Given the description of an element on the screen output the (x, y) to click on. 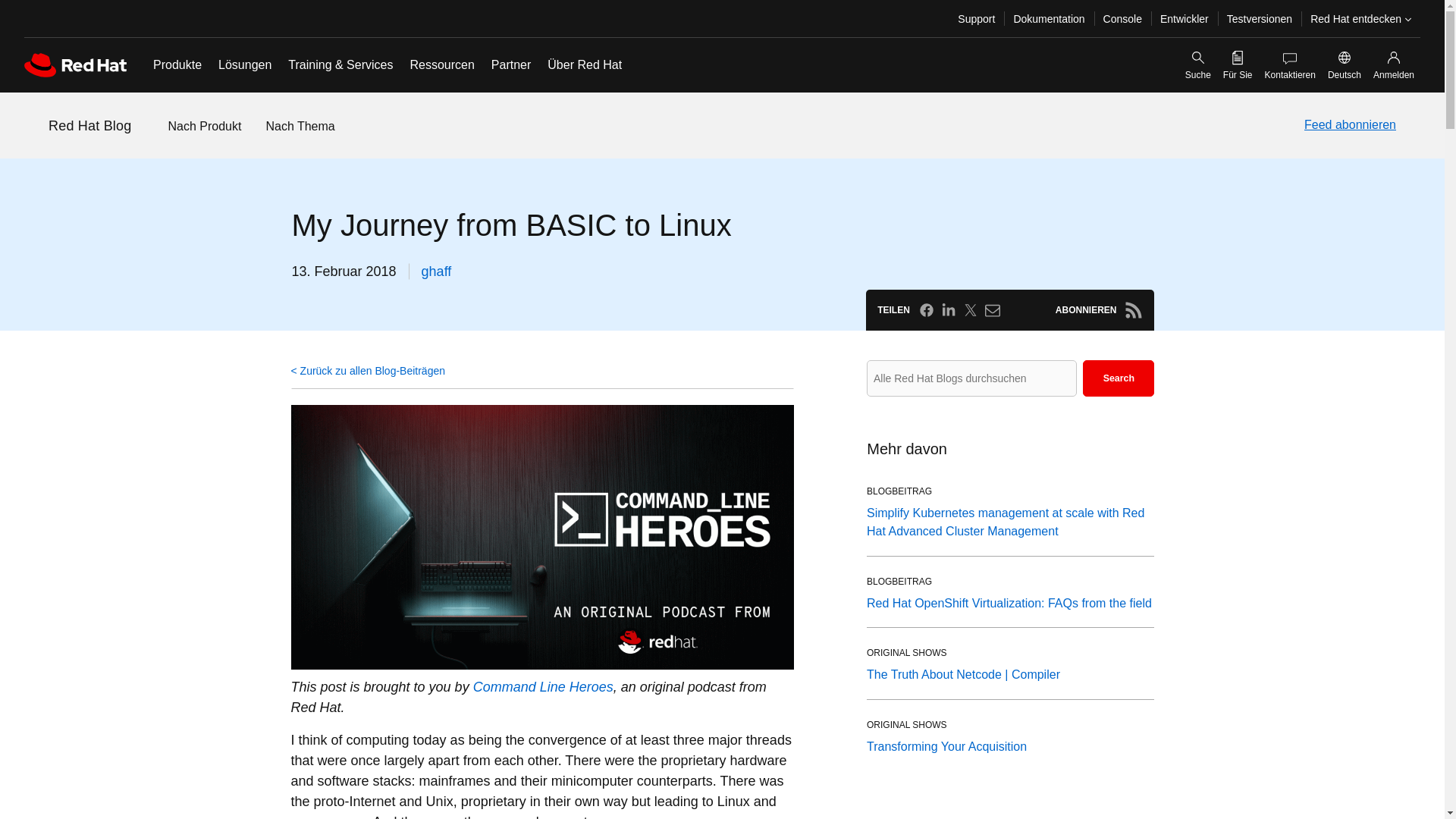
Dokumentation (1048, 18)
See more by ghaff (436, 271)
Testversionen (1259, 18)
Abonnieren (1132, 310)
Red Hat entdecken (1361, 18)
Support (976, 18)
Console (1122, 18)
Entwickler (1184, 18)
